Given the description of an element on the screen output the (x, y) to click on. 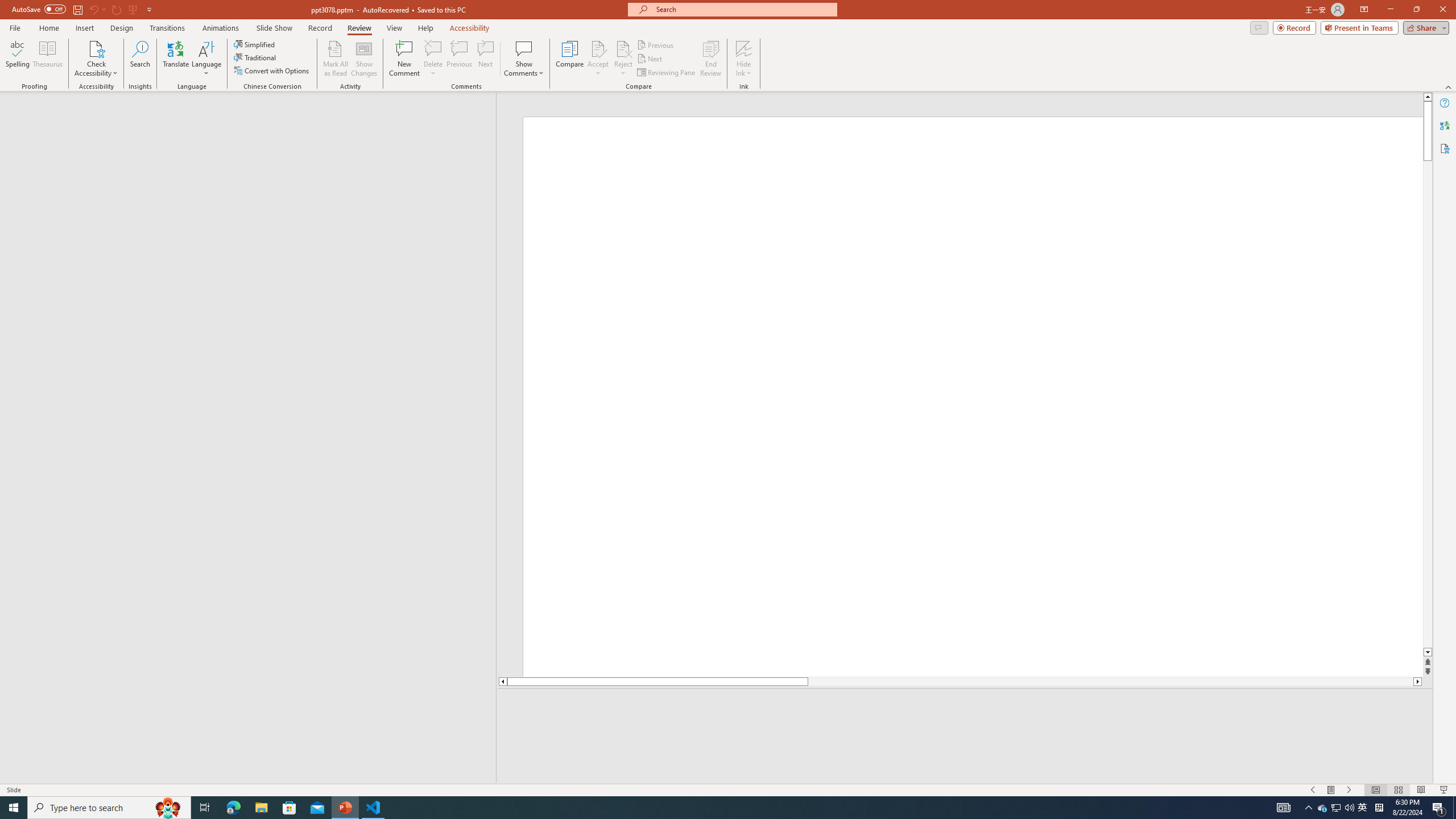
Slide Show Previous On (1313, 790)
Accept Change (598, 48)
Reject Change (622, 48)
Previous (655, 44)
Show Changes (363, 58)
